Given the description of an element on the screen output the (x, y) to click on. 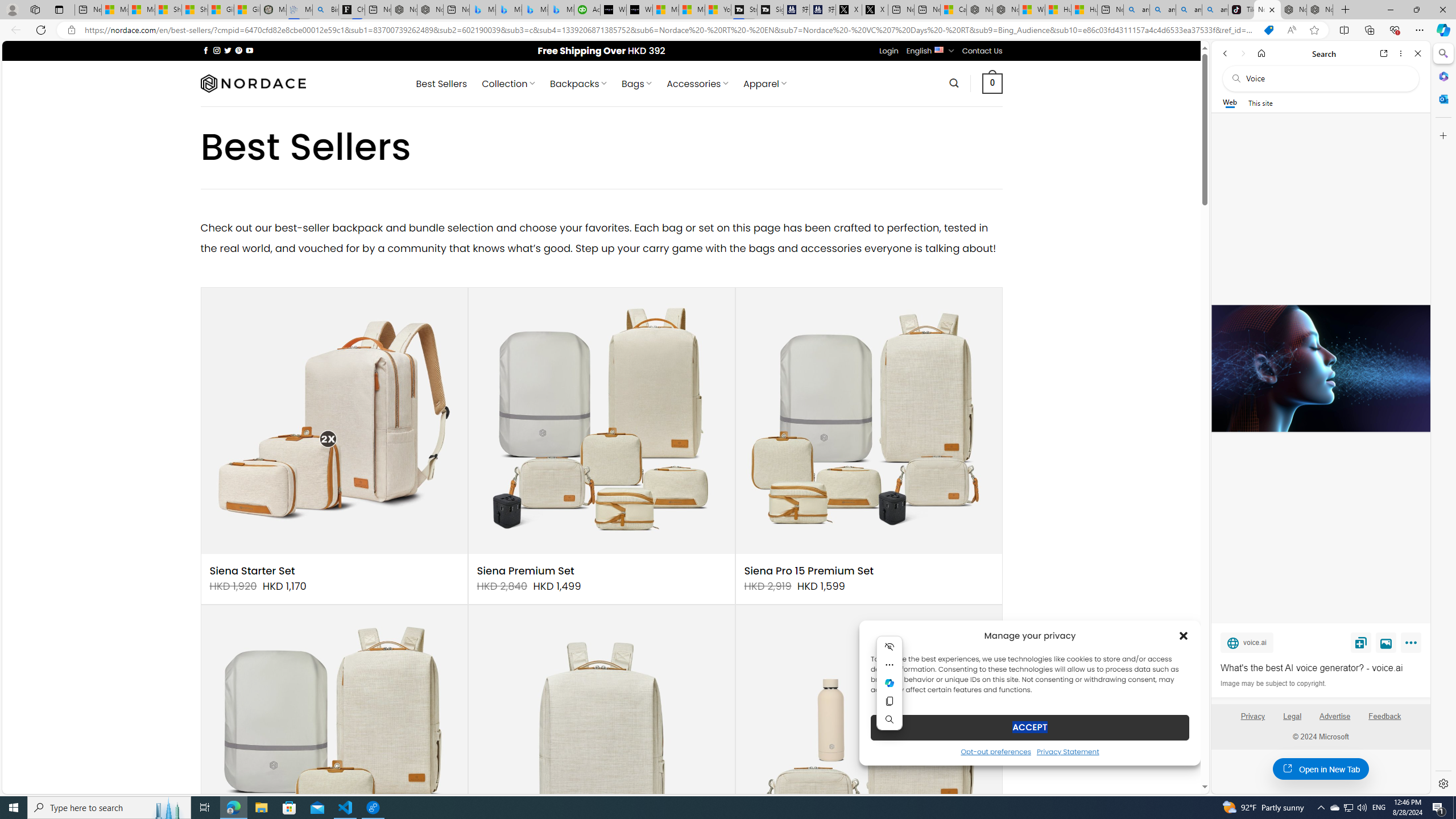
Hide menu (889, 646)
Privacy Statement (1067, 750)
Mini menu on text selection (889, 689)
Image may be subject to copyright. (1273, 682)
Bing Real Estate - Home sales and rental listings (325, 9)
